Given the description of an element on the screen output the (x, y) to click on. 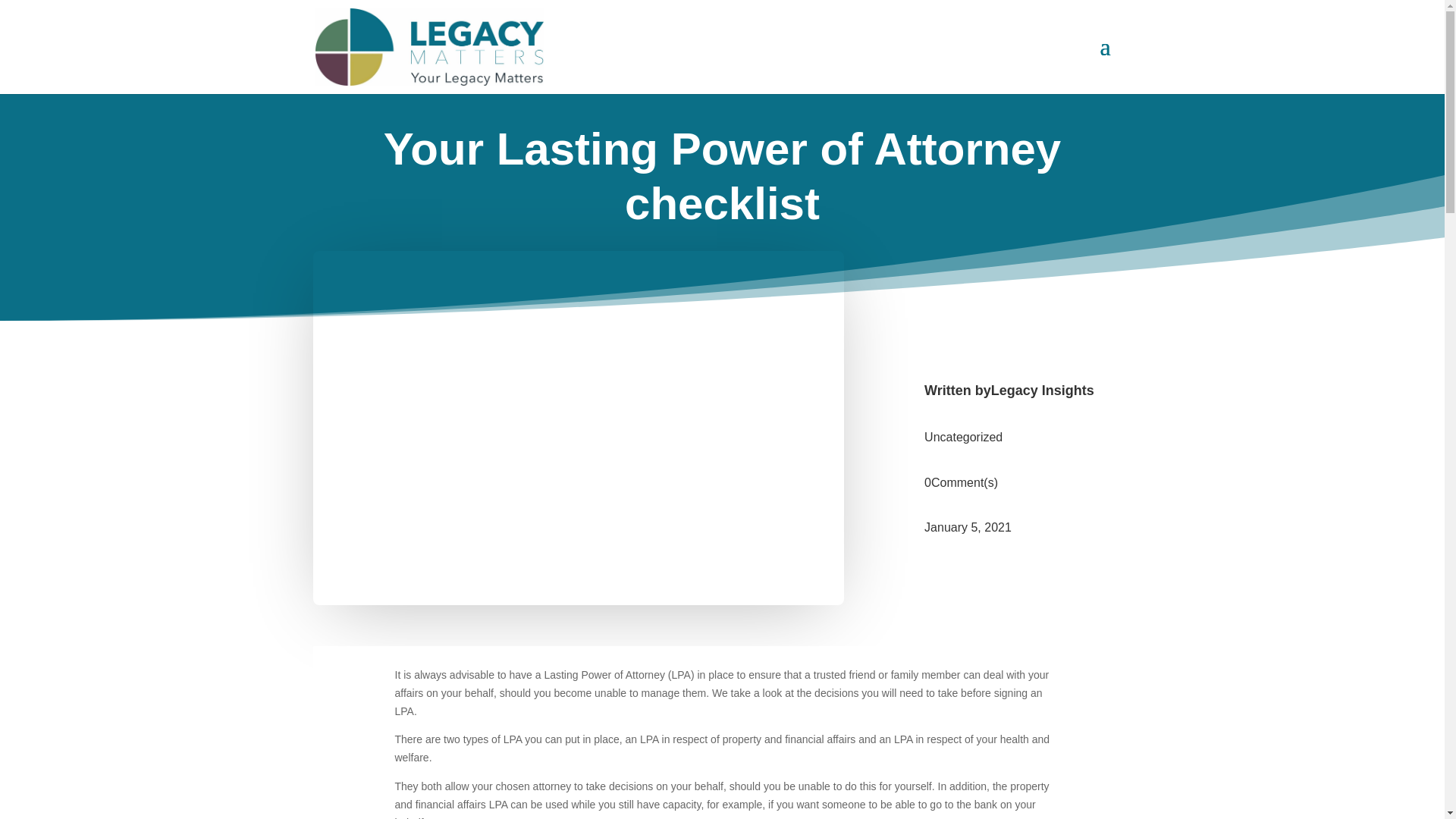
Legacy Insights (1042, 390)
Uncategorized (963, 436)
